Given the description of an element on the screen output the (x, y) to click on. 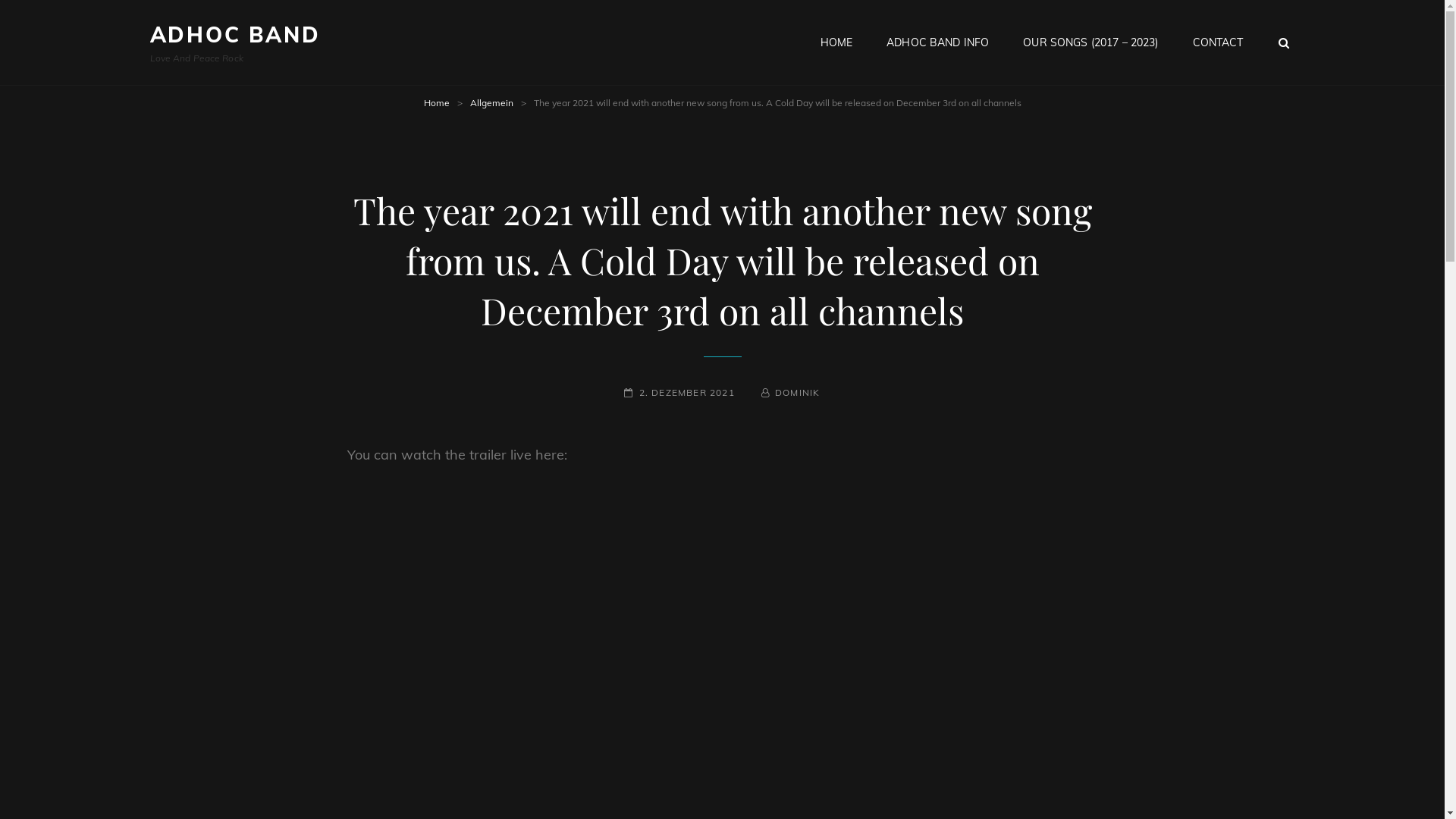
ADHOC BAND INFO Element type: text (937, 42)
DOMINIK Element type: text (790, 392)
SEARCH Element type: text (1283, 42)
CONTACT Element type: text (1217, 42)
HOME Element type: text (836, 42)
2. DEZEMBER 2021 Element type: text (679, 392)
Allgemein Element type: text (491, 102)
ADHOC BAND Element type: text (235, 34)
Home Element type: text (435, 102)
